Given the description of an element on the screen output the (x, y) to click on. 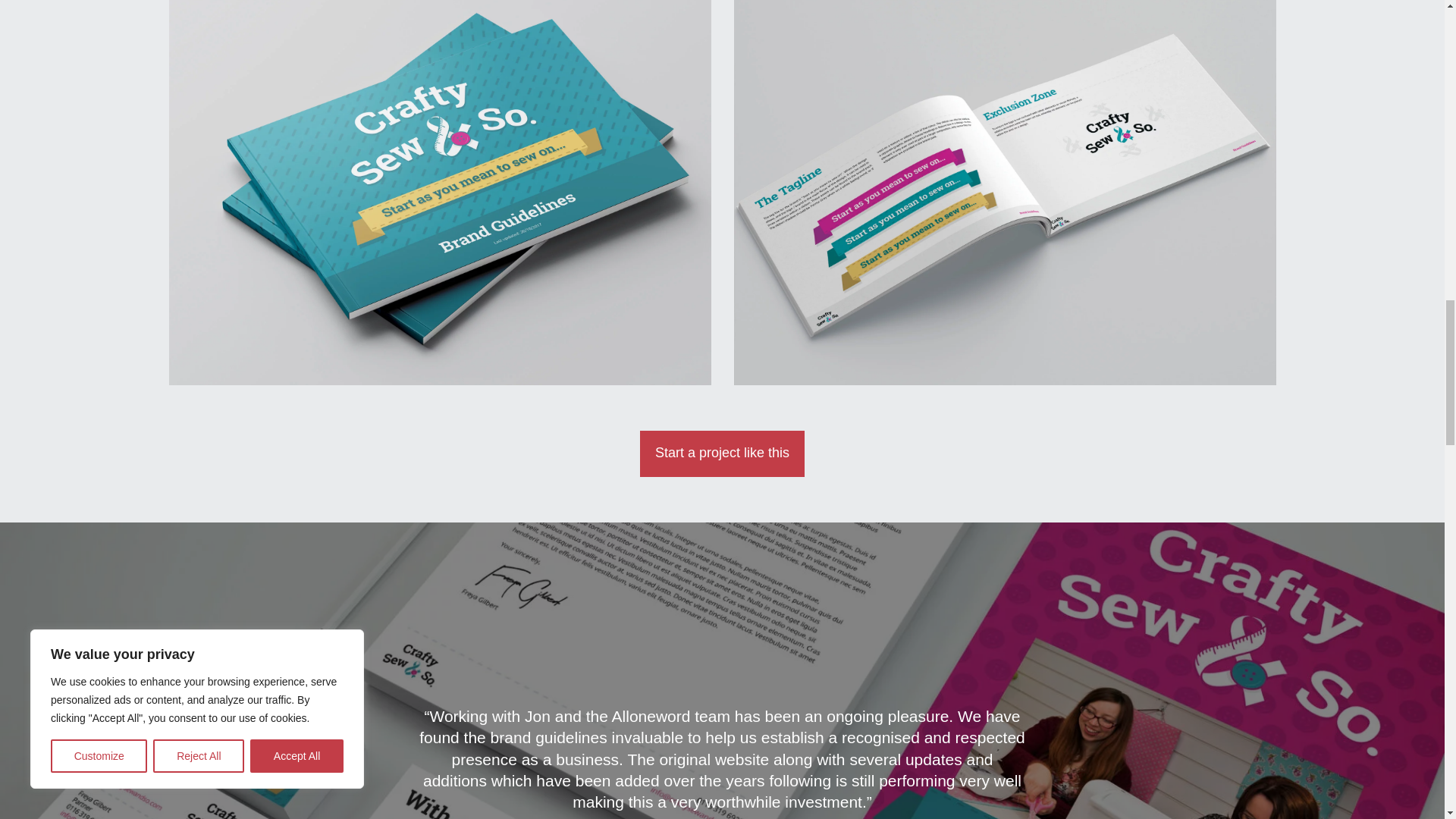
Start a project like this (722, 452)
